Given the description of an element on the screen output the (x, y) to click on. 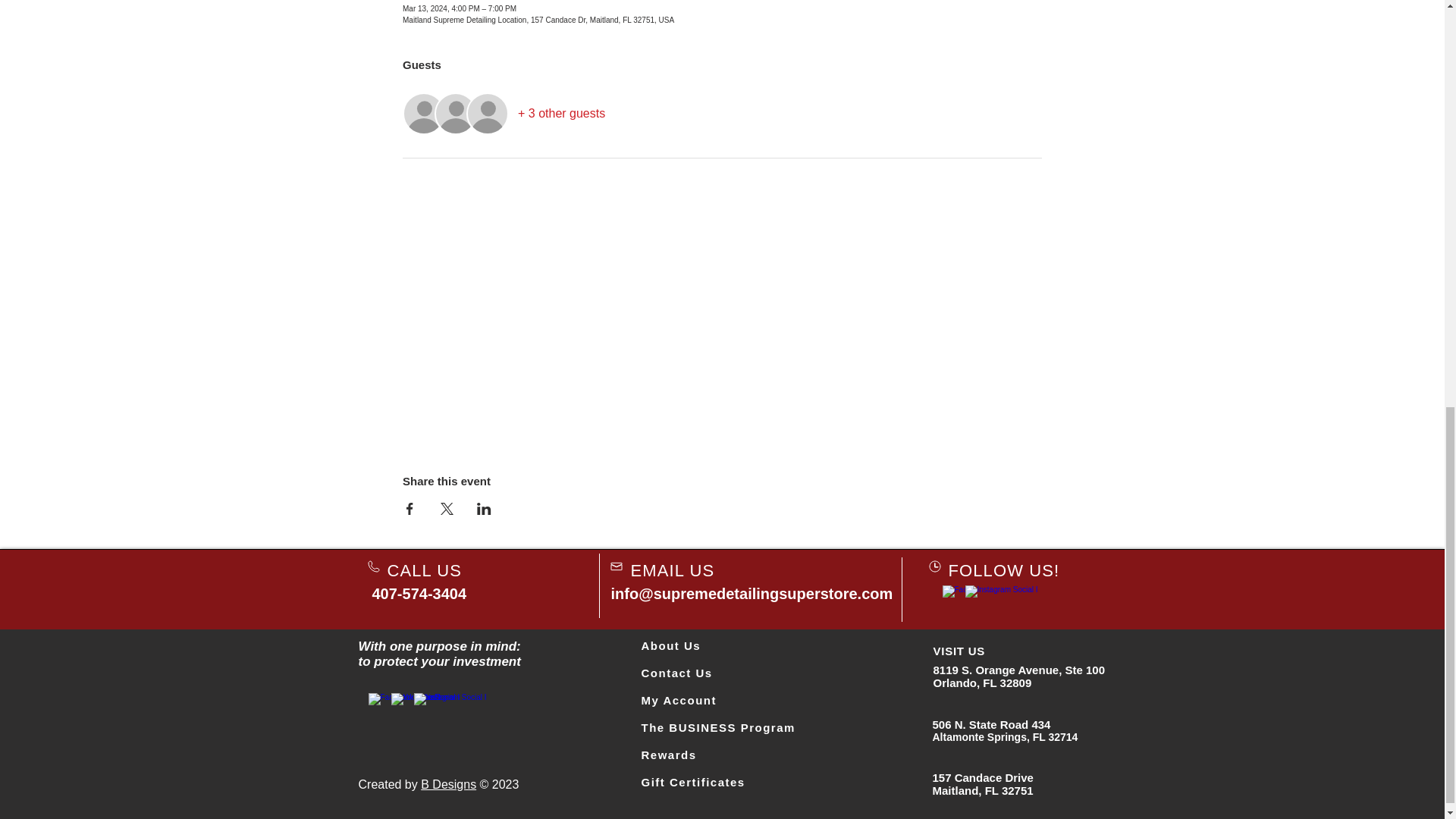
Rewards (669, 754)
8119 S. Orange Avenue, Ste 100 (1019, 669)
About Us (671, 645)
Altamonte Springs, FL 32714 (1005, 736)
The BUSINESS Program (718, 727)
My Account (679, 699)
Orlando, FL 32809 (981, 682)
407-574-3404 (418, 593)
506 N. State Road 434 (992, 724)
Contact Us (677, 672)
